Given the description of an element on the screen output the (x, y) to click on. 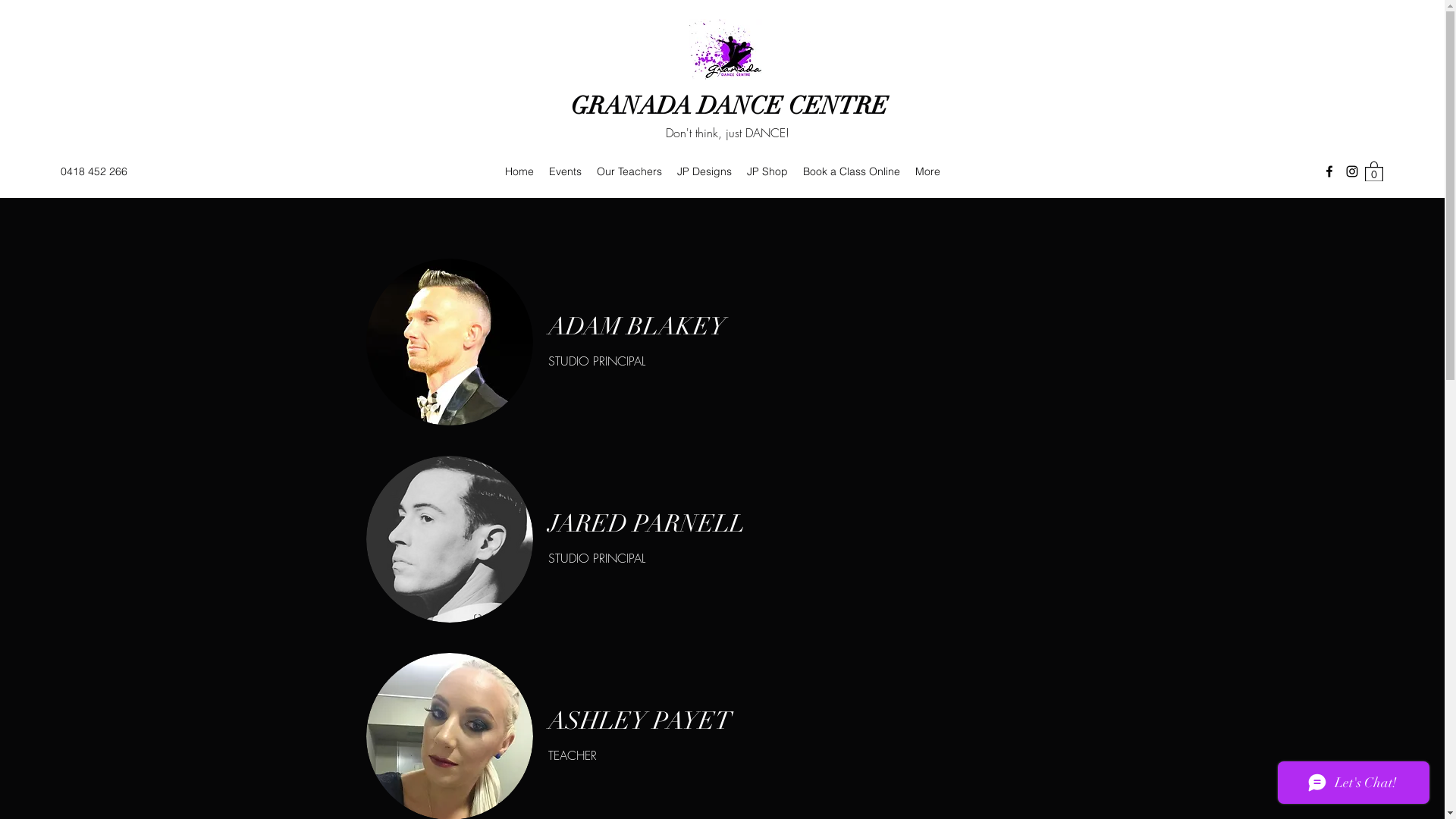
GRANADA DANCE CENTRE Element type: text (729, 105)
JP Shop Element type: text (767, 171)
JP Designs Element type: text (704, 171)
Events Element type: text (565, 171)
Book a Class Online Element type: text (851, 171)
Our Teachers Element type: text (629, 171)
0 Element type: text (1374, 171)
Home Element type: text (519, 171)
